Given the description of an element on the screen output the (x, y) to click on. 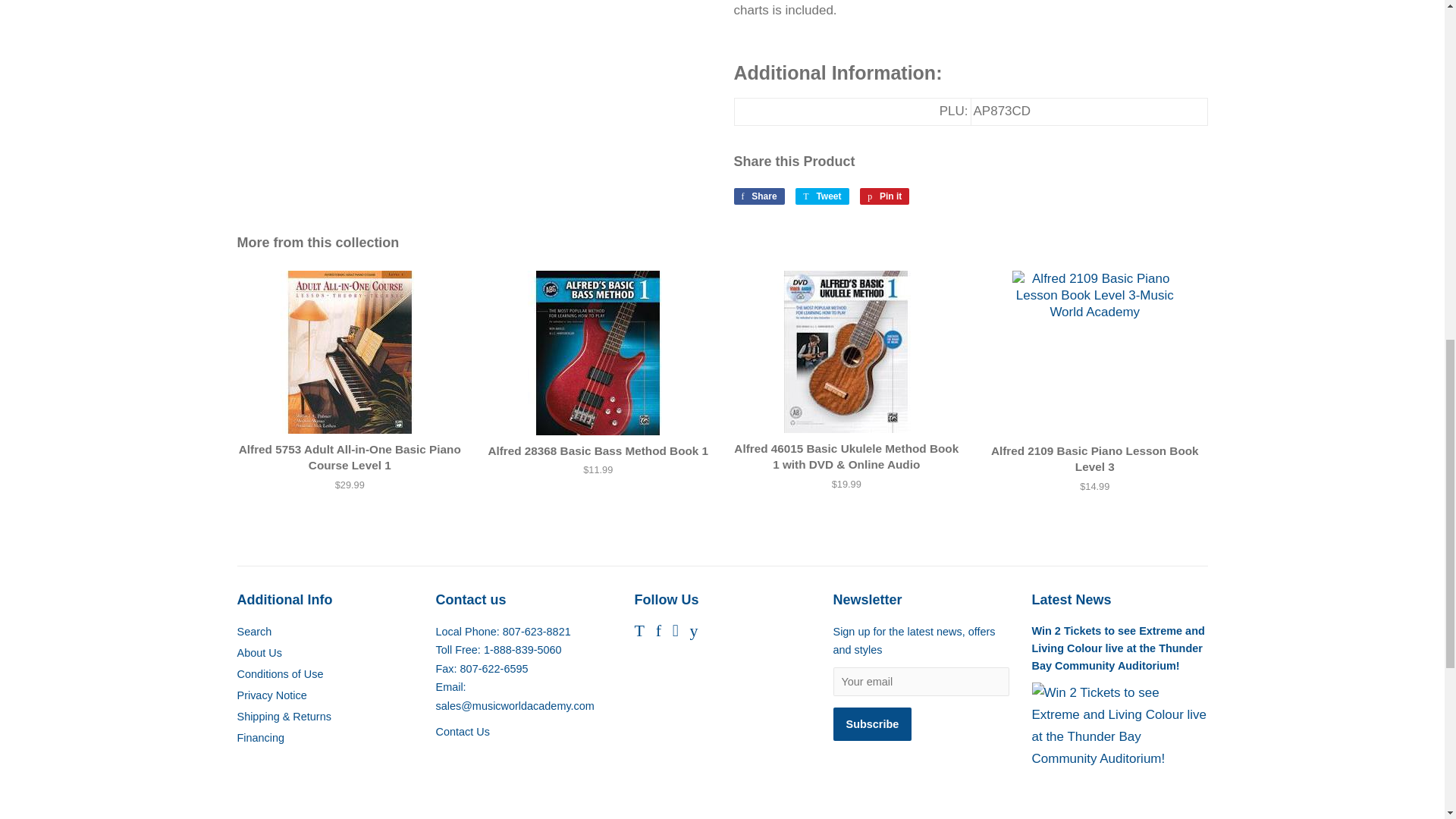
Subscribe (871, 724)
Share on Facebook (758, 196)
Contact Us (462, 731)
Pin on Pinterest (884, 196)
Tweet on Twitter (821, 196)
